Given the description of an element on the screen output the (x, y) to click on. 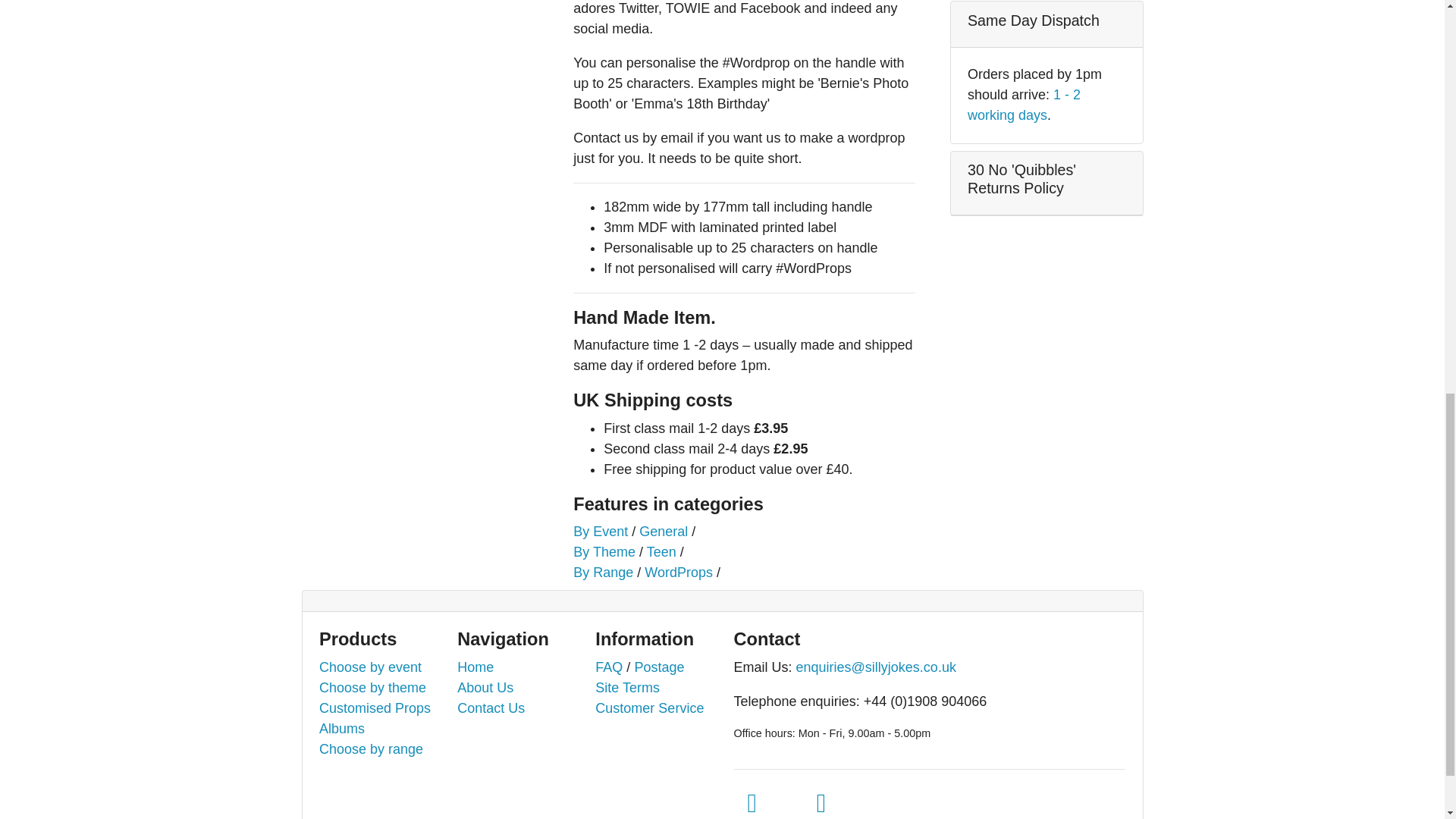
Twitter (752, 802)
Facebook (821, 802)
